Given the description of an element on the screen output the (x, y) to click on. 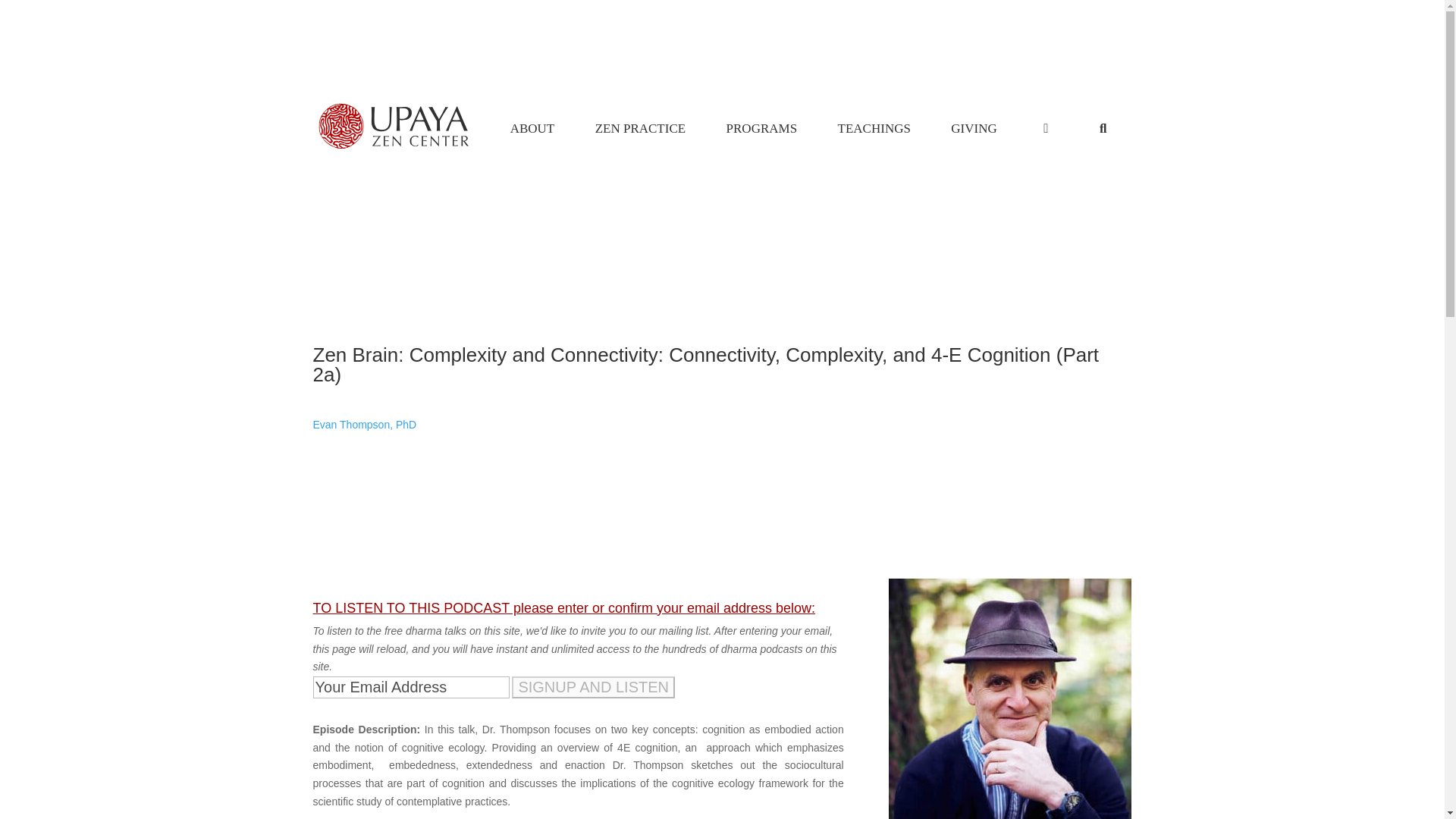
Signup and Listen (593, 687)
Your Email Address (410, 687)
ZEN PRACTICE (640, 128)
GIVING (974, 128)
ABOUT (532, 128)
TEACHINGS (873, 128)
PROGRAMS (761, 128)
